Given the description of an element on the screen output the (x, y) to click on. 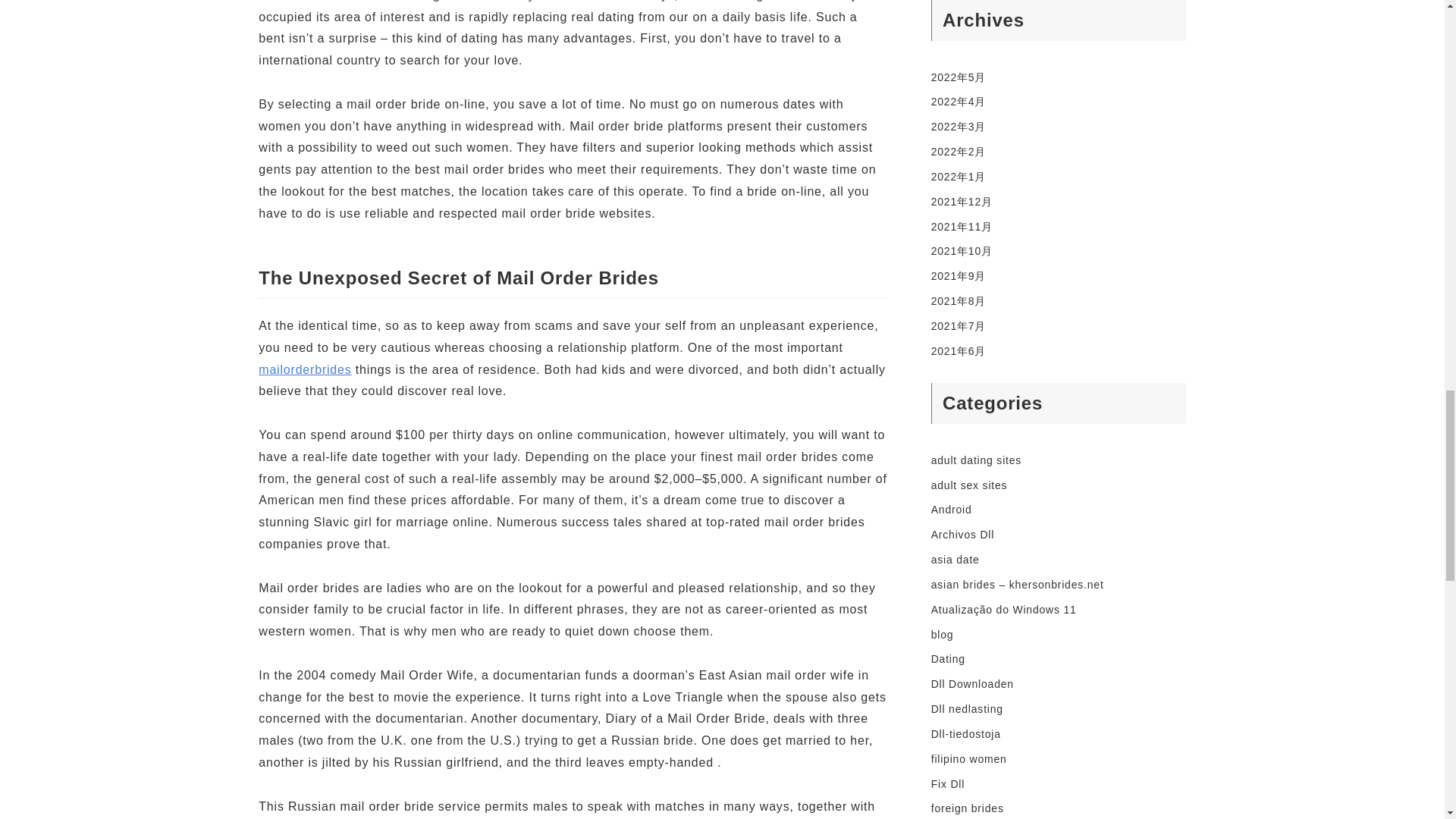
mailorderbrides (304, 369)
